Given the description of an element on the screen output the (x, y) to click on. 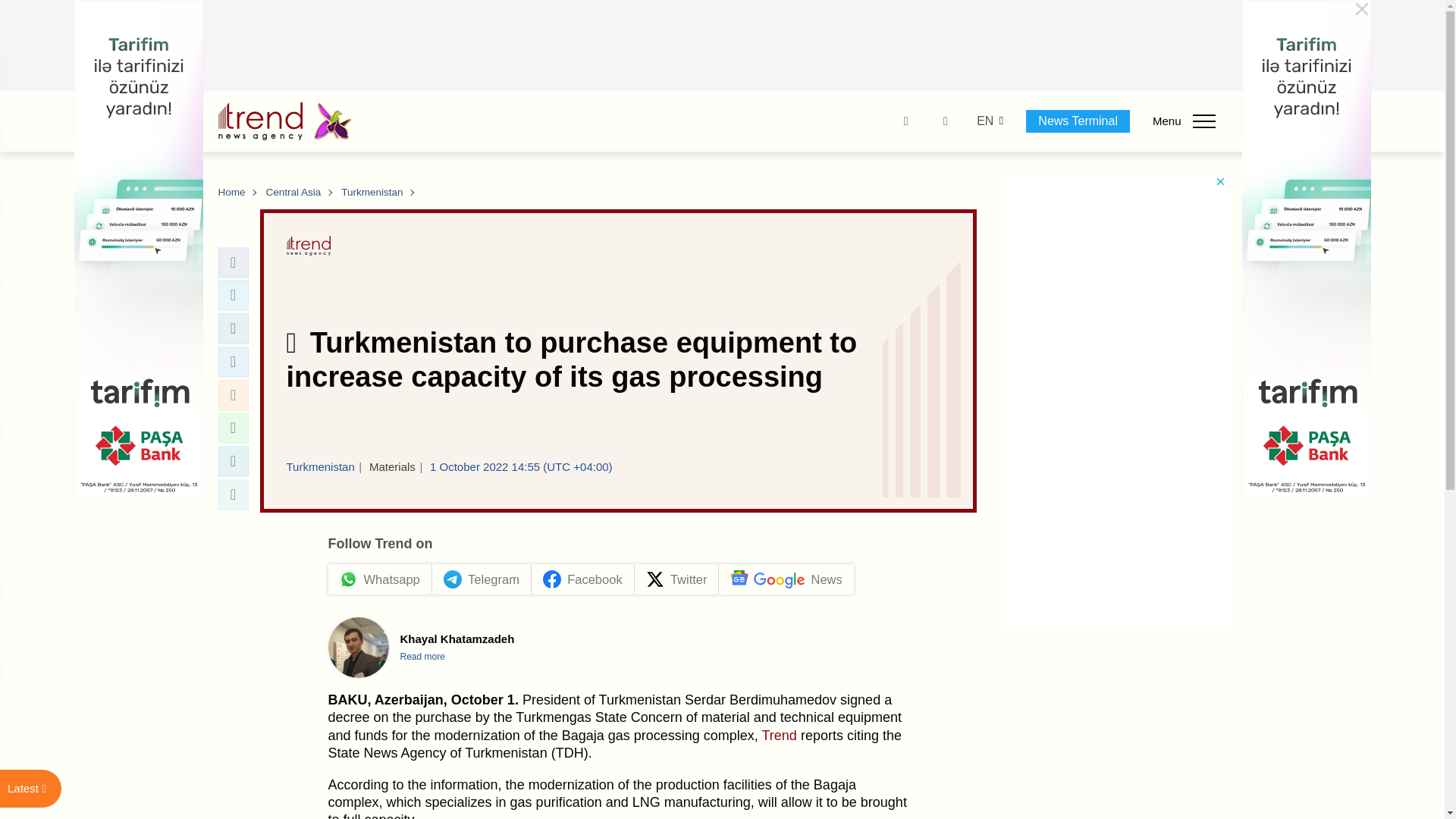
News Terminal (1077, 120)
English (984, 121)
EN (984, 121)
3rd party ad content (722, 45)
